Given the description of an element on the screen output the (x, y) to click on. 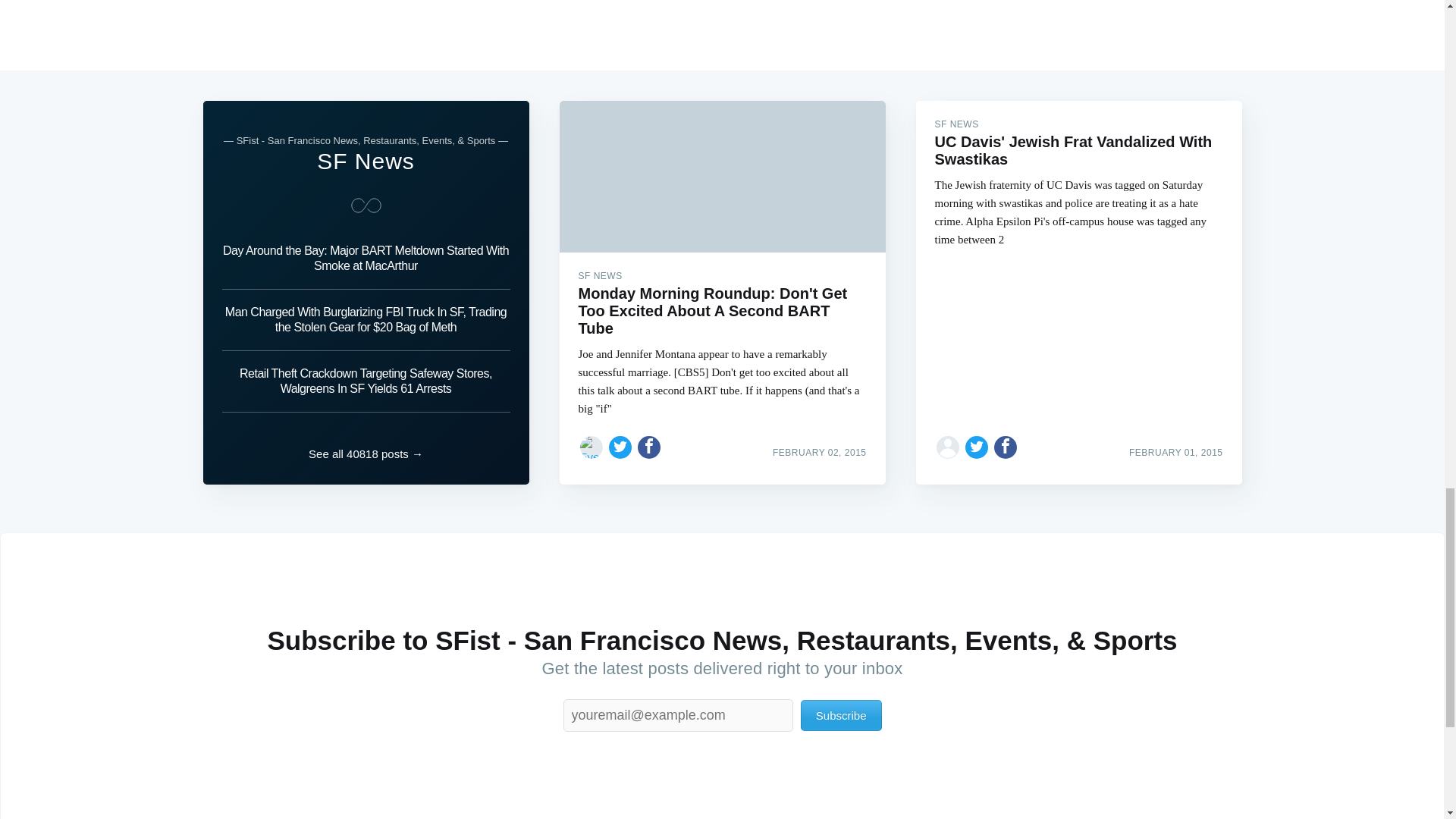
SF News (365, 160)
Share on Twitter (620, 447)
Share on Facebook (649, 447)
Share on Facebook (1004, 447)
Subscribe (841, 715)
Share on Twitter (976, 447)
